Given the description of an element on the screen output the (x, y) to click on. 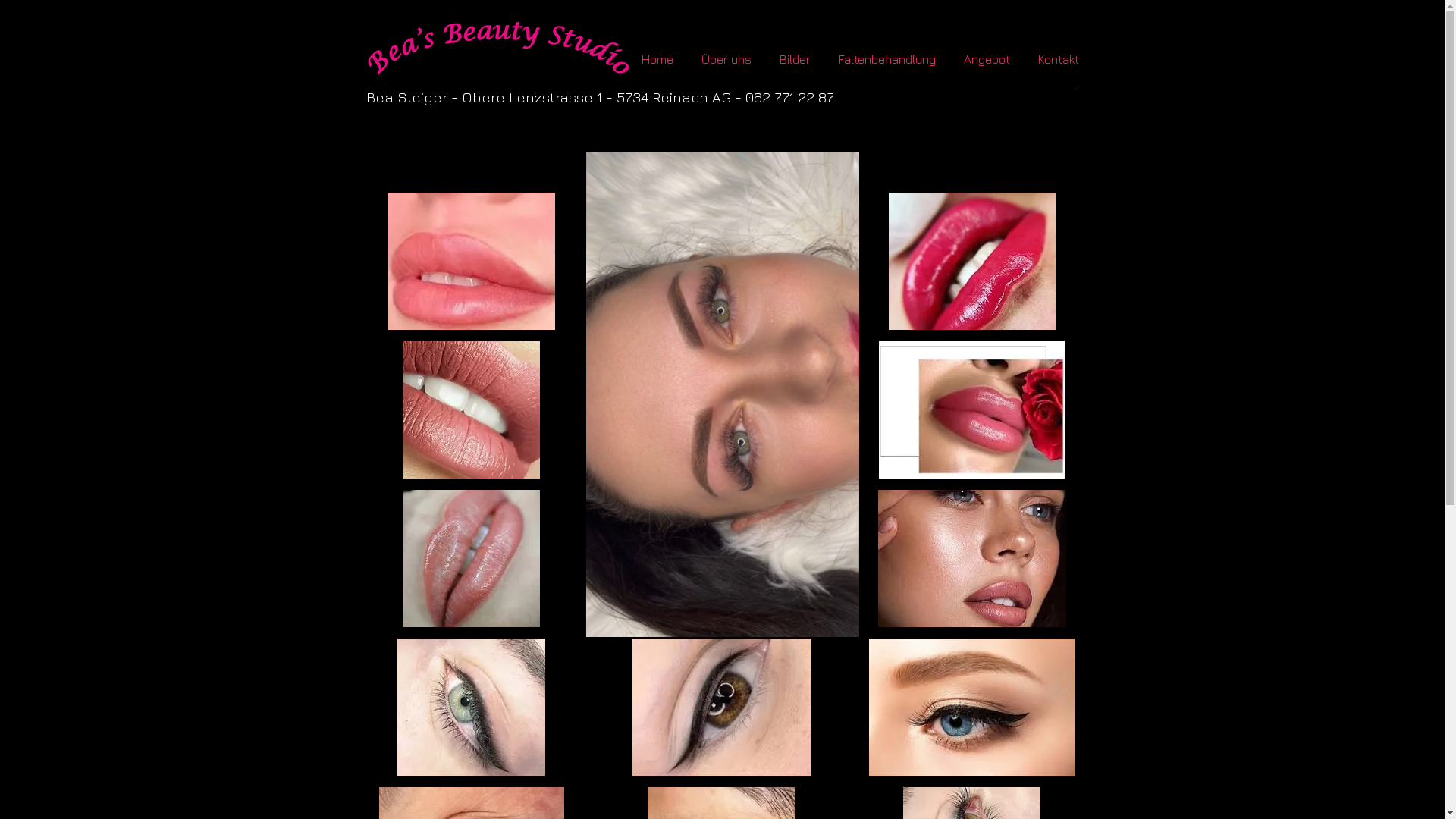
Angebot Element type: text (989, 58)
Faltenbehandlung Element type: text (888, 58)
Kontakt Element type: text (1060, 58)
Home Element type: text (658, 58)
Bilder Element type: text (796, 58)
